Given the description of an element on the screen output the (x, y) to click on. 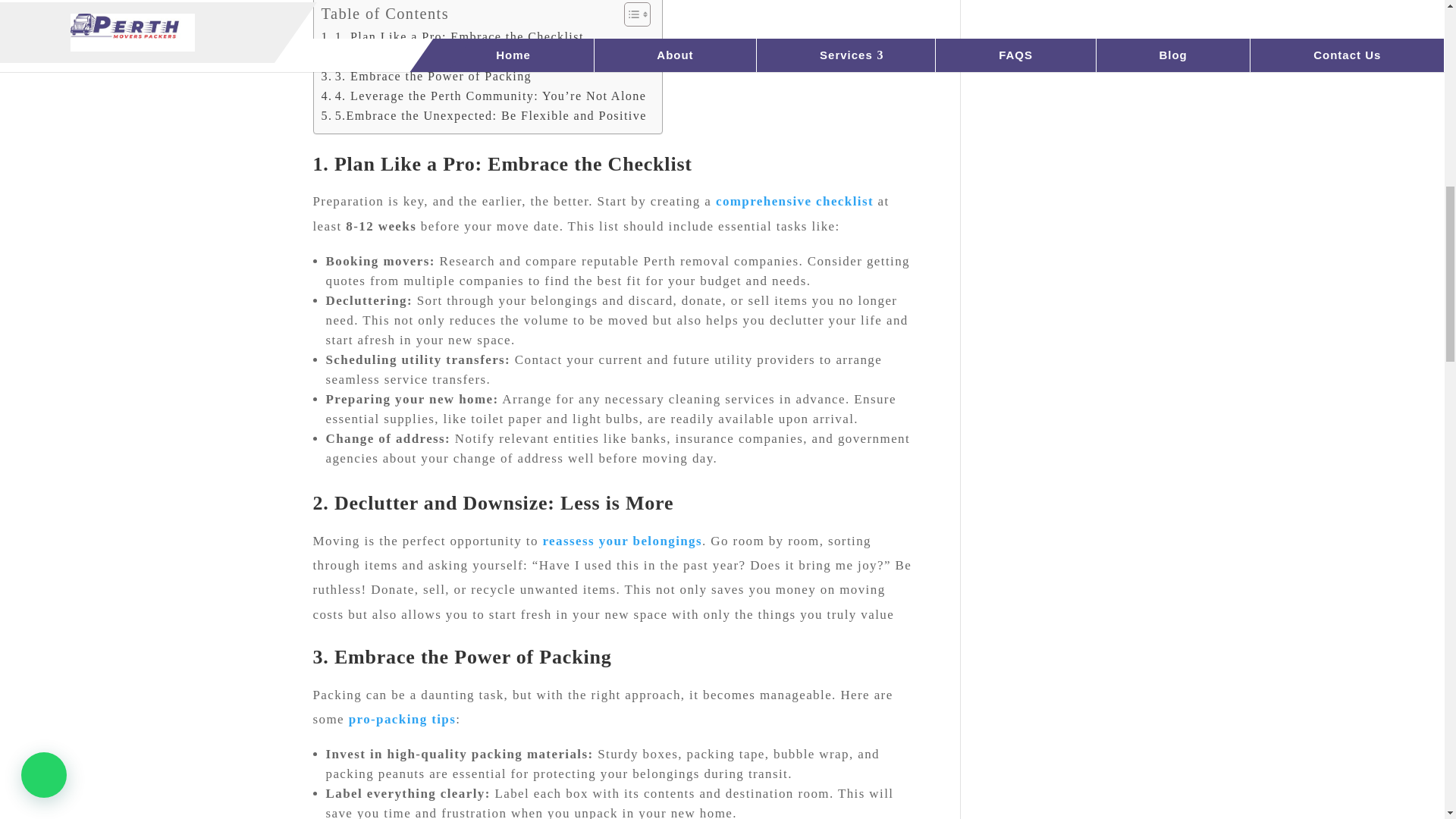
1. Plan Like a Pro: Embrace the Checklist (452, 36)
2. Declutter and Downsize: Less is More (448, 56)
3. Embrace the Power of Packing (426, 76)
5.Embrace the Unexpected: Be Flexible and Positive (483, 116)
